Given the description of an element on the screen output the (x, y) to click on. 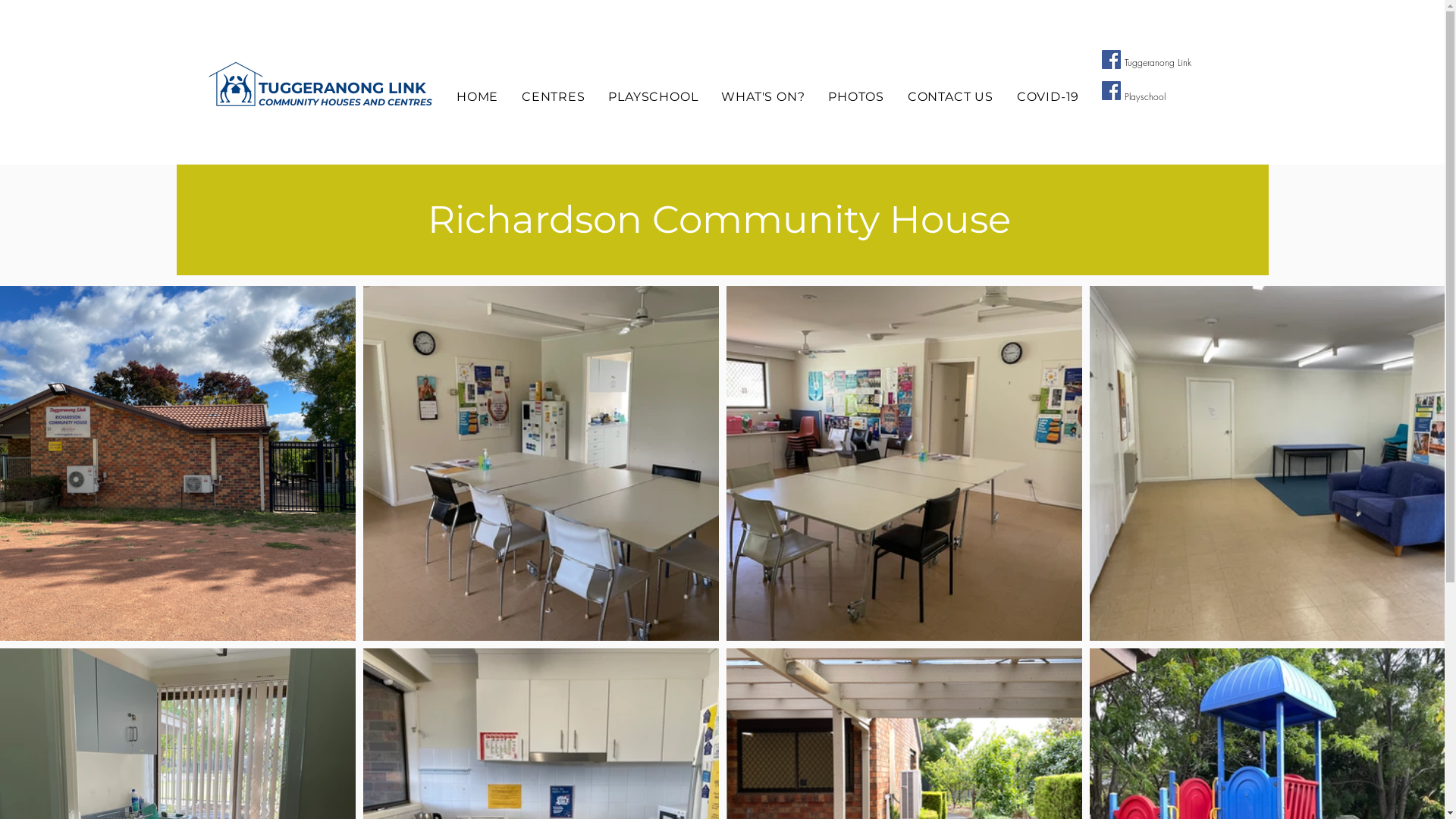
WHAT'S ON? Element type: text (762, 96)
HOME Element type: text (476, 96)
COVID-19 Element type: text (1047, 96)
CONTACT US Element type: text (949, 96)
